Given the description of an element on the screen output the (x, y) to click on. 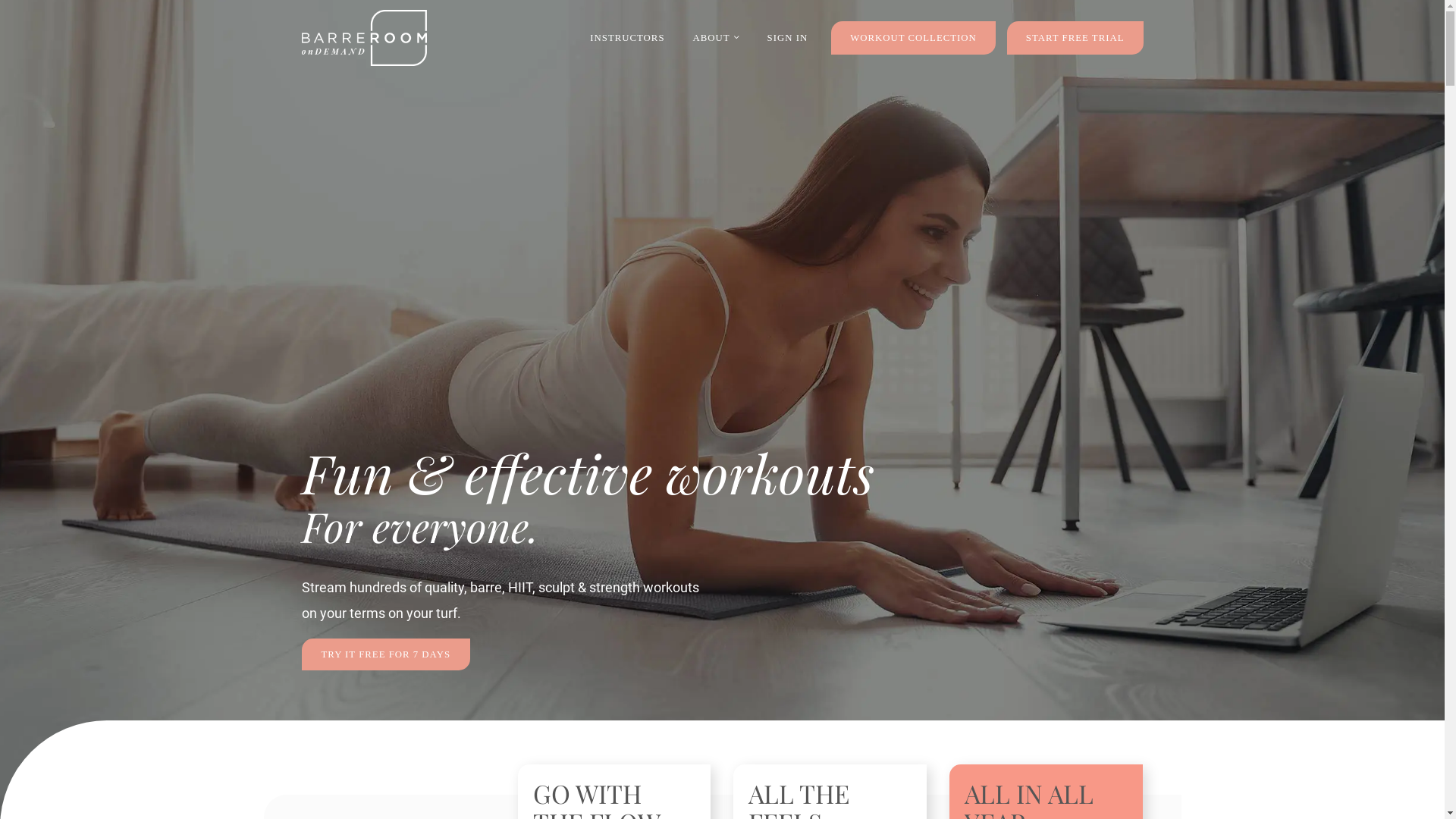
WORKOUT COLLECTION Element type: text (913, 37)
SIGN IN Element type: text (787, 37)
TRY IT FREE FOR 7 DAYS Element type: text (385, 654)
INSTRUCTORS Element type: text (626, 37)
Barreroom onDemand Element type: hover (363, 37)
START FREE TRIAL Element type: text (1075, 37)
ABOUT Element type: text (715, 37)
